Given the description of an element on the screen output the (x, y) to click on. 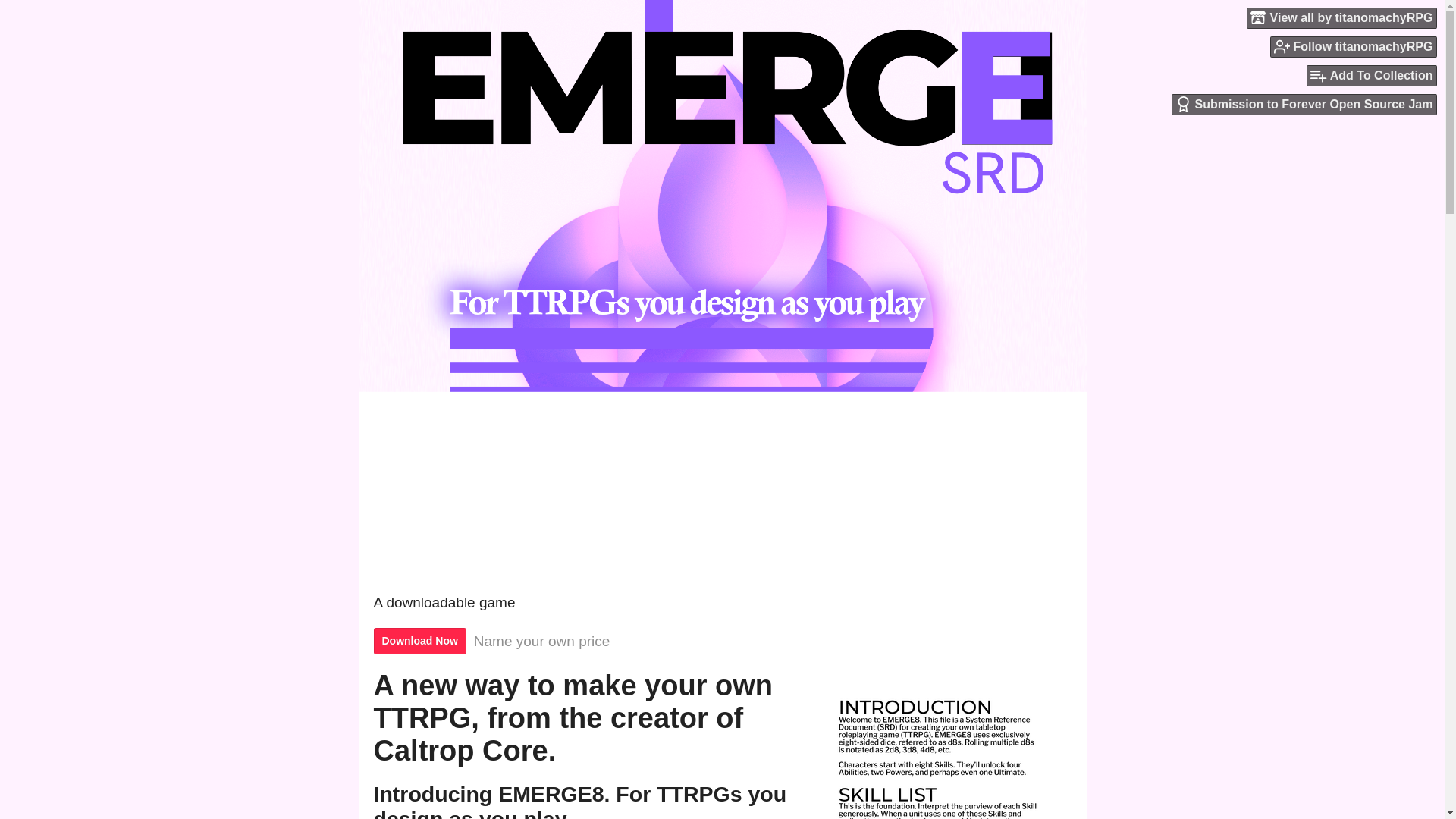
View all by titanomachyRPG (1341, 17)
Submission to Forever Open Source Jam (1304, 104)
Follow titanomachyRPG (1353, 46)
Download Now (418, 641)
Add To Collection (1371, 75)
